Given the description of an element on the screen output the (x, y) to click on. 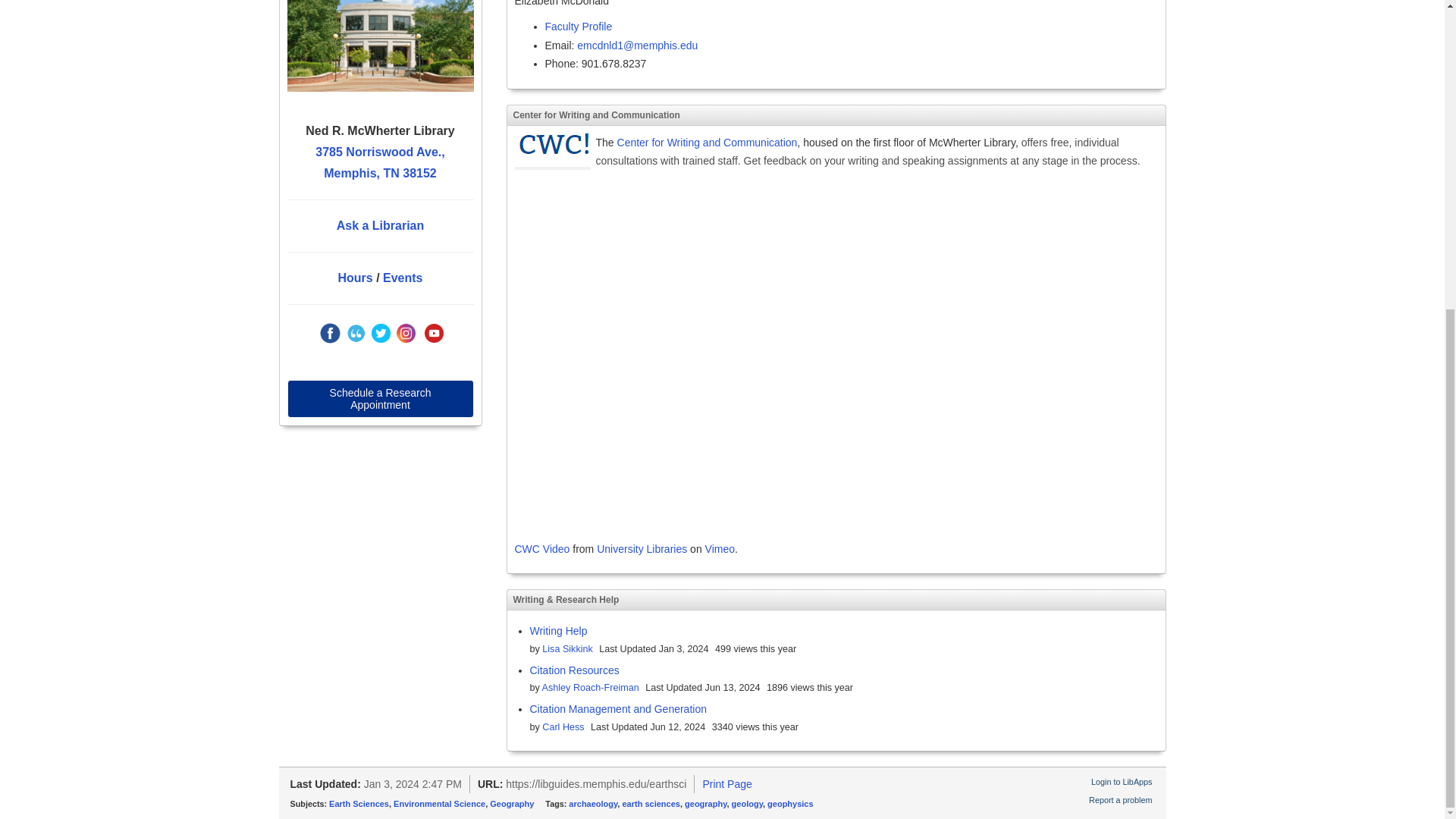
Center for Writing and Communication (707, 142)
Print Page (726, 784)
Writing Help (557, 630)
Vimeo (719, 548)
University Libraries (641, 548)
Faculty Profile (577, 26)
Ashley Roach-Freiman (590, 687)
Login to LibApps (1120, 781)
Hours (354, 277)
Carl Hess (562, 726)
Lisa Sikkink (566, 648)
3785 Norriswood Ave., Memphis, TN 38152 (379, 162)
Events (402, 277)
Citation Management and Generation (617, 708)
Schedule a Research Appointment (379, 398)
